Given the description of an element on the screen output the (x, y) to click on. 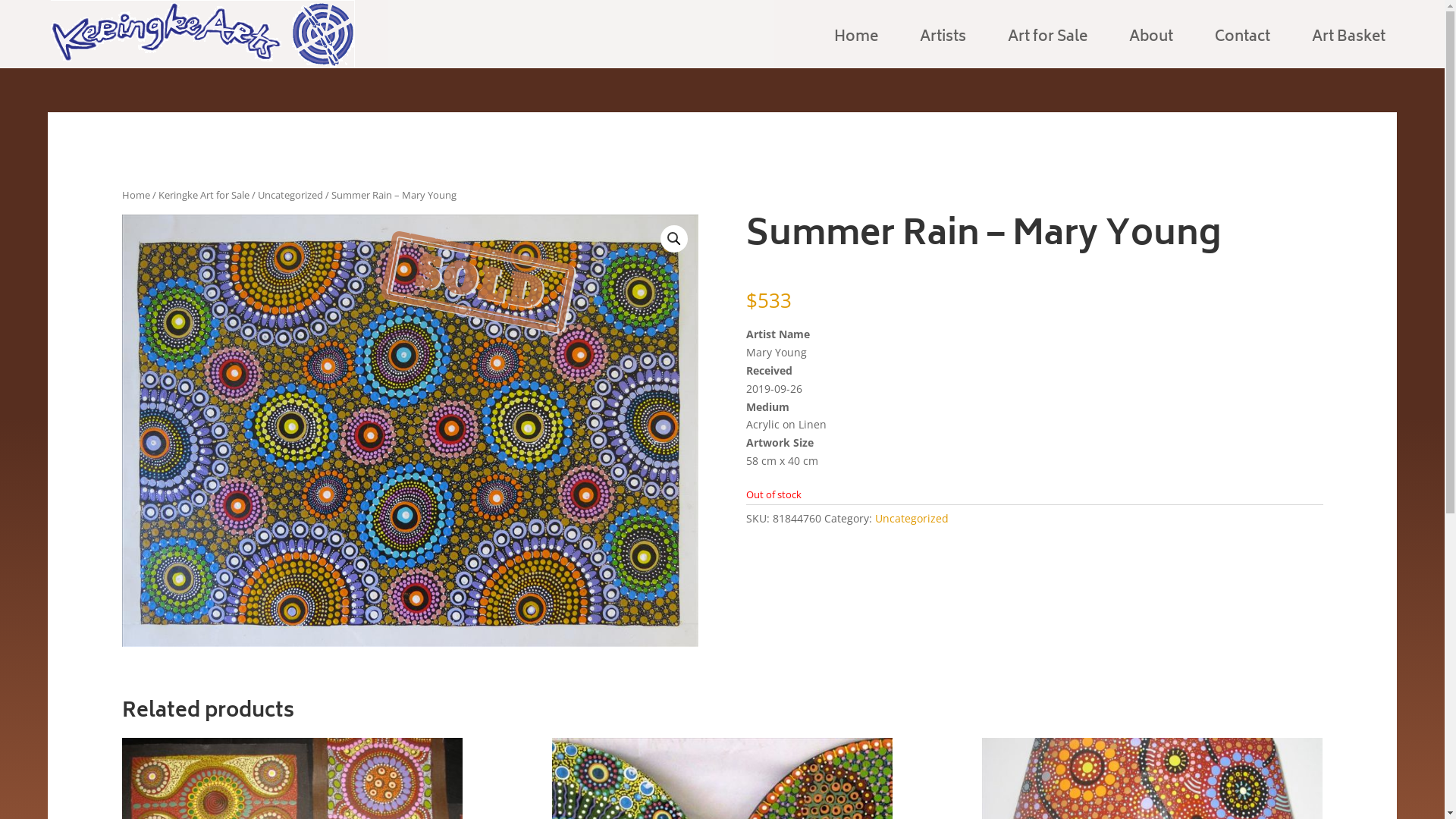
gallery desc Element type: hover (409, 449)
Home Element type: text (855, 46)
Keringke Art for Sale Element type: text (202, 194)
Uncategorized Element type: text (911, 518)
Uncategorized Element type: text (290, 194)
Art Basket Element type: text (1348, 46)
Artists Element type: text (942, 46)
Home Element type: text (135, 194)
Art for Sale Element type: text (1047, 46)
Contact Element type: text (1242, 46)
About Element type: text (1150, 46)
